Given the description of an element on the screen output the (x, y) to click on. 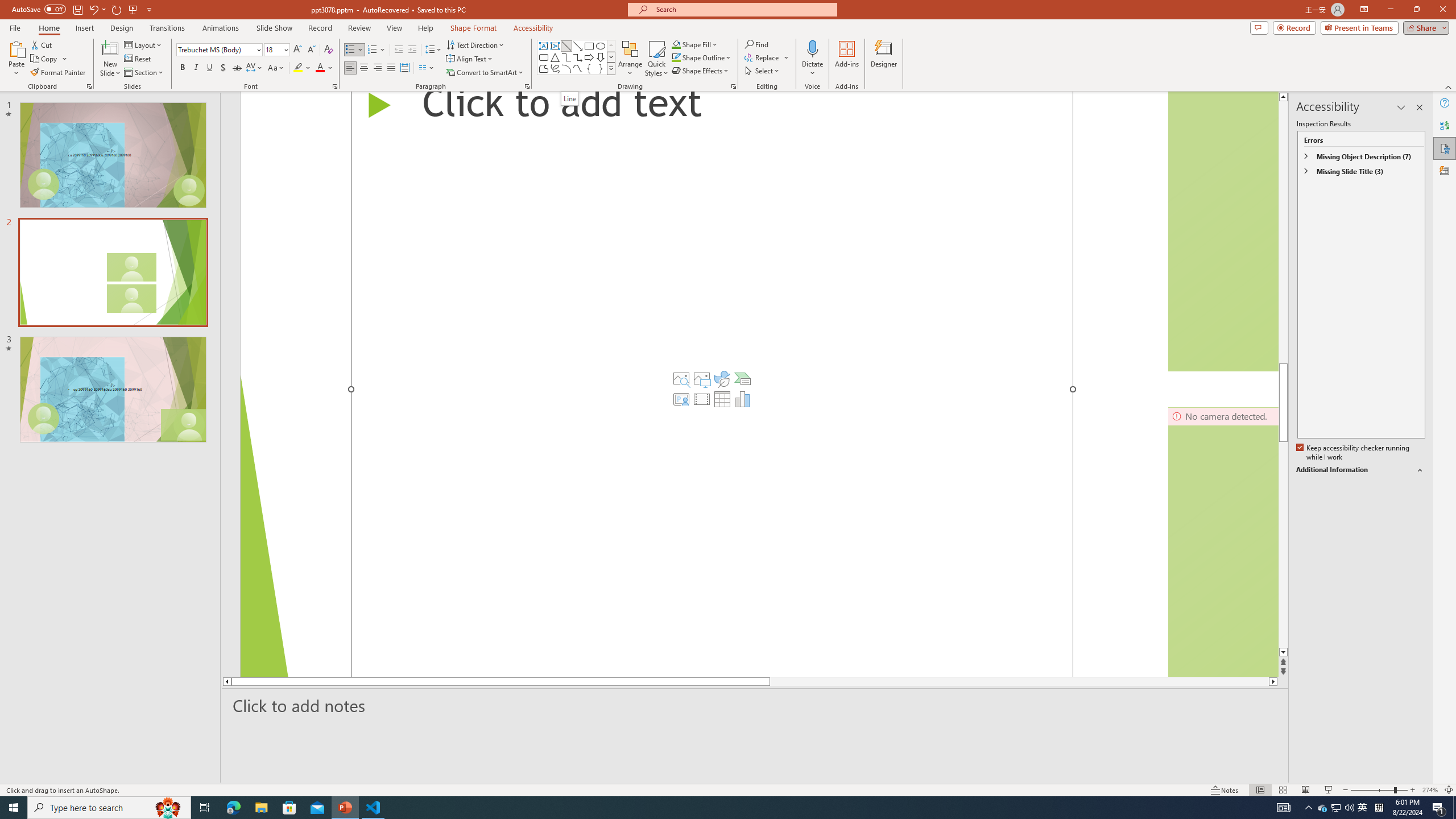
Numbering (372, 49)
Insert Video (701, 398)
Change Case (276, 67)
Strikethrough (237, 67)
Rectangle (589, 45)
Camera 5, No camera detected. (1222, 231)
Camera 3, No camera detected. (1222, 541)
Line down (1283, 652)
Office Clipboard... (88, 85)
